Given the description of an element on the screen output the (x, y) to click on. 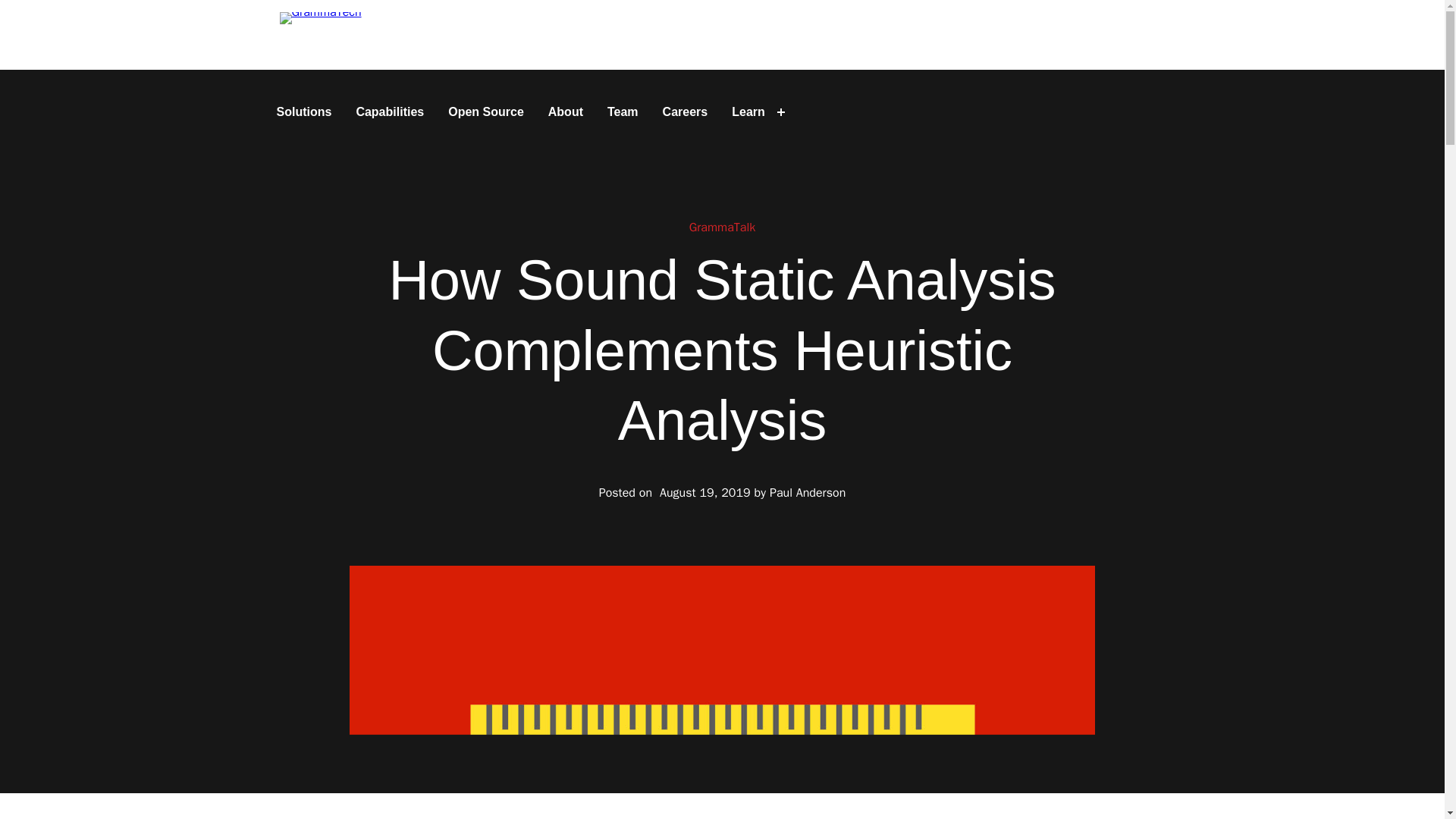
Learn (748, 112)
CONTACT US (1108, 34)
Capabilities (389, 112)
Open Source (485, 112)
Team (622, 112)
About (565, 112)
Solutions (303, 112)
Careers (685, 112)
